Given the description of an element on the screen output the (x, y) to click on. 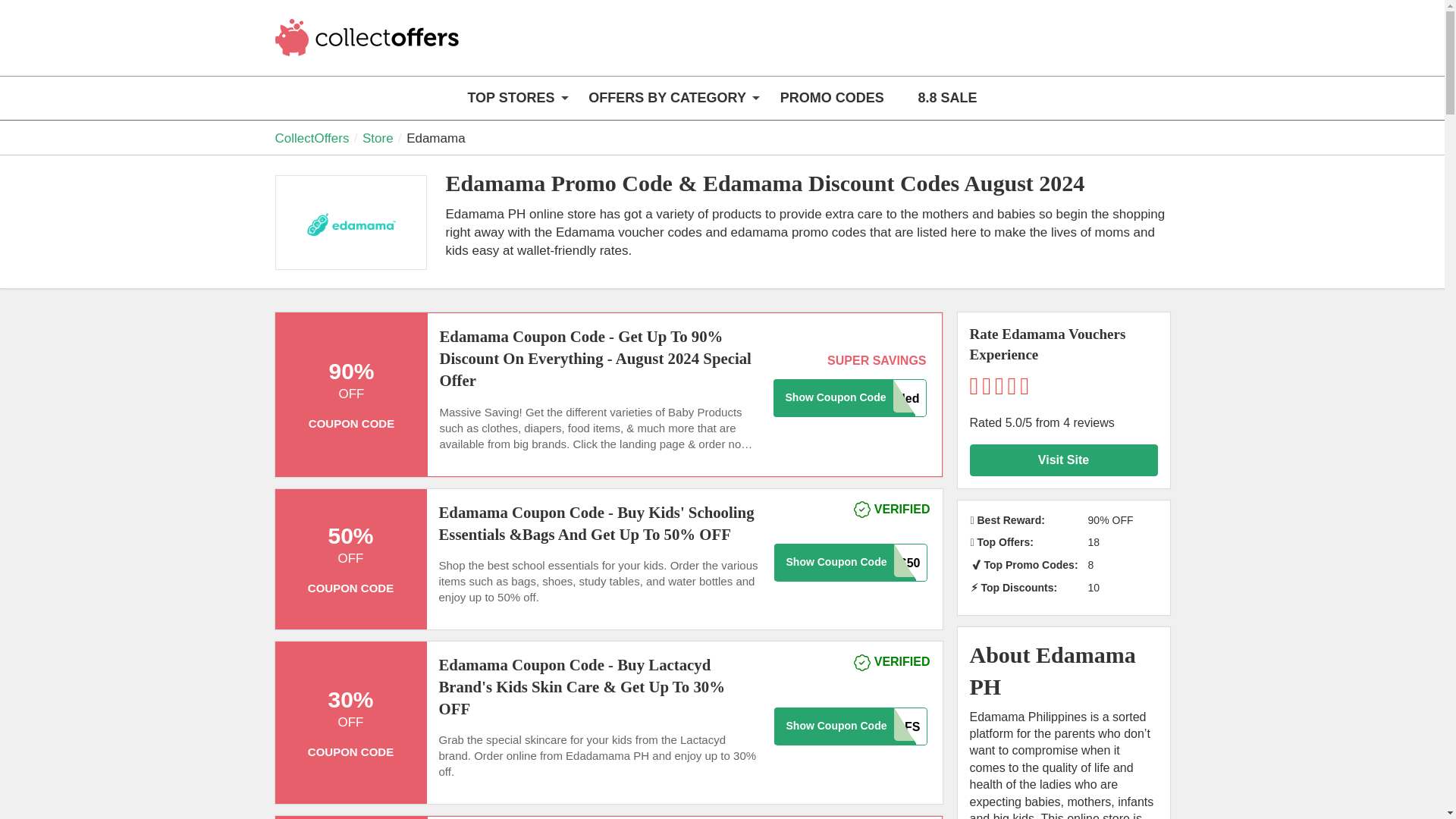
CollectOffers (369, 47)
TOP STORES (510, 97)
OFFERS BY CATEGORY (666, 97)
